Given the description of an element on the screen output the (x, y) to click on. 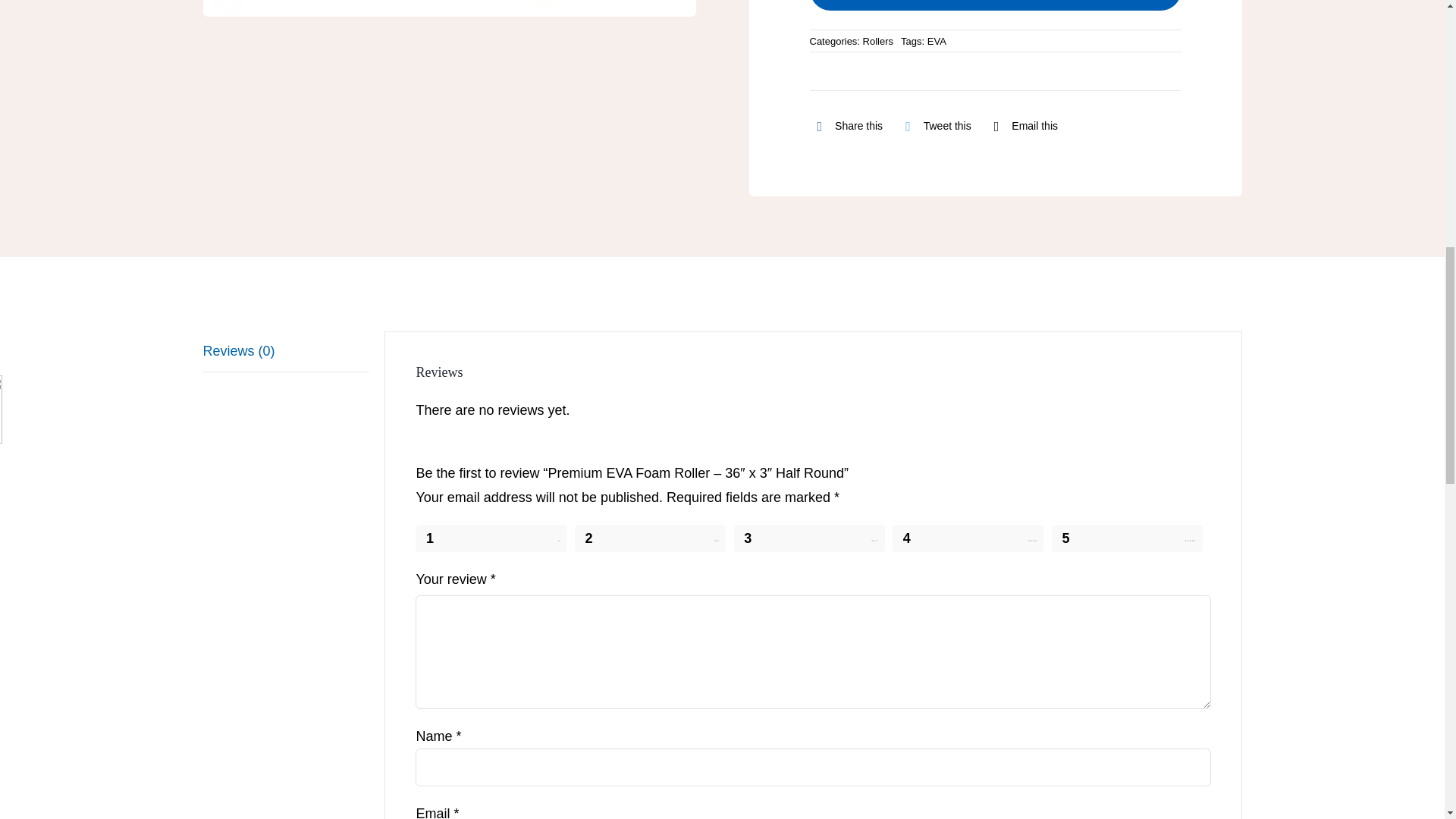
3 (809, 538)
Rollers (878, 41)
Email this (1022, 126)
1 (490, 538)
4 (967, 538)
Facebook (846, 126)
EVA (936, 41)
Share this (846, 126)
5 (1126, 538)
Twitter (934, 126)
Email (1022, 126)
Add to cart (994, 5)
2 (650, 538)
Tweet this (934, 126)
